Given the description of an element on the screen output the (x, y) to click on. 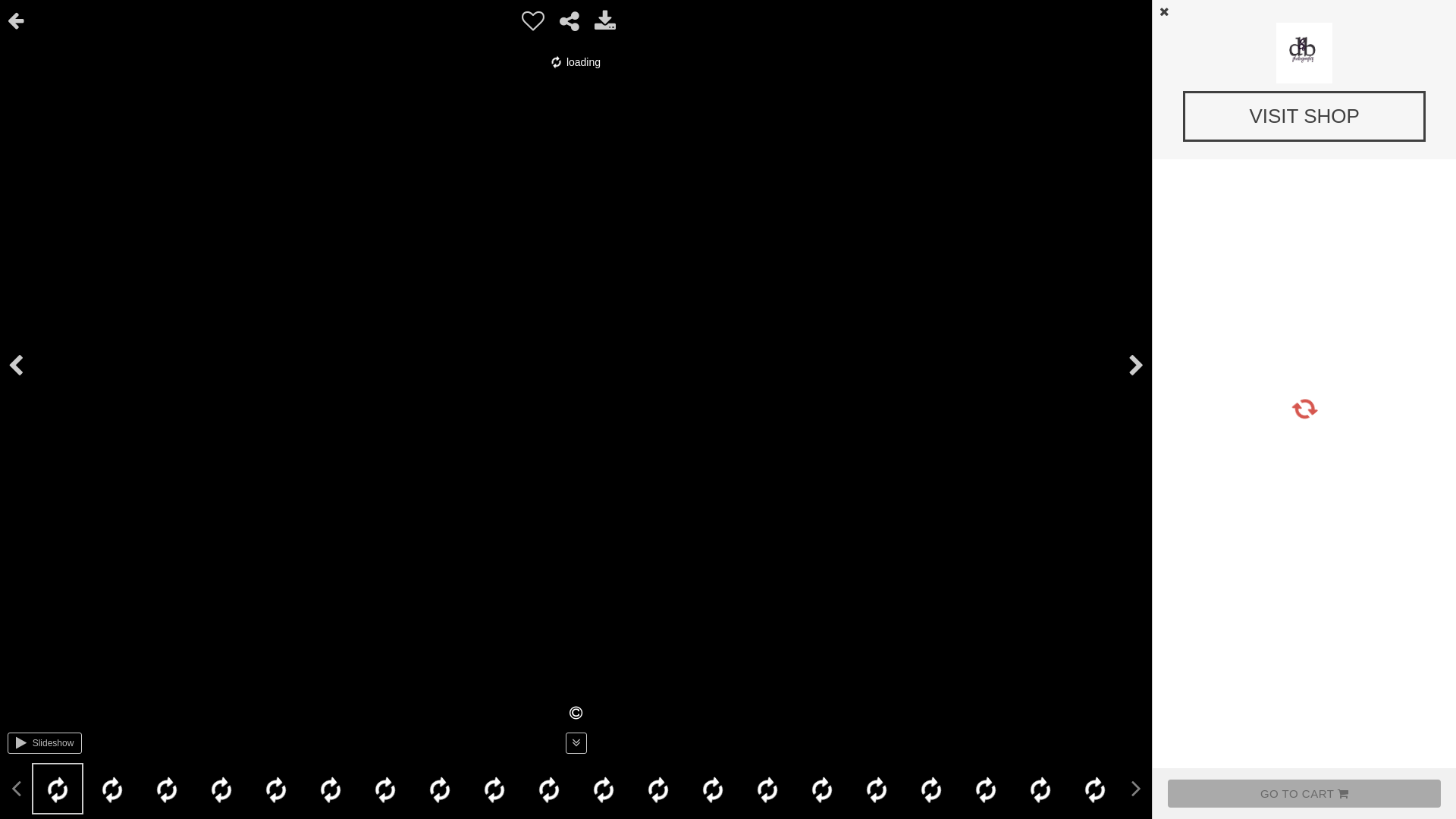
GO TO CART Element type: text (1303, 793)
Close Element type: hover (1164, 11)
Hide Element type: text (1430, 11)
